Given the description of an element on the screen output the (x, y) to click on. 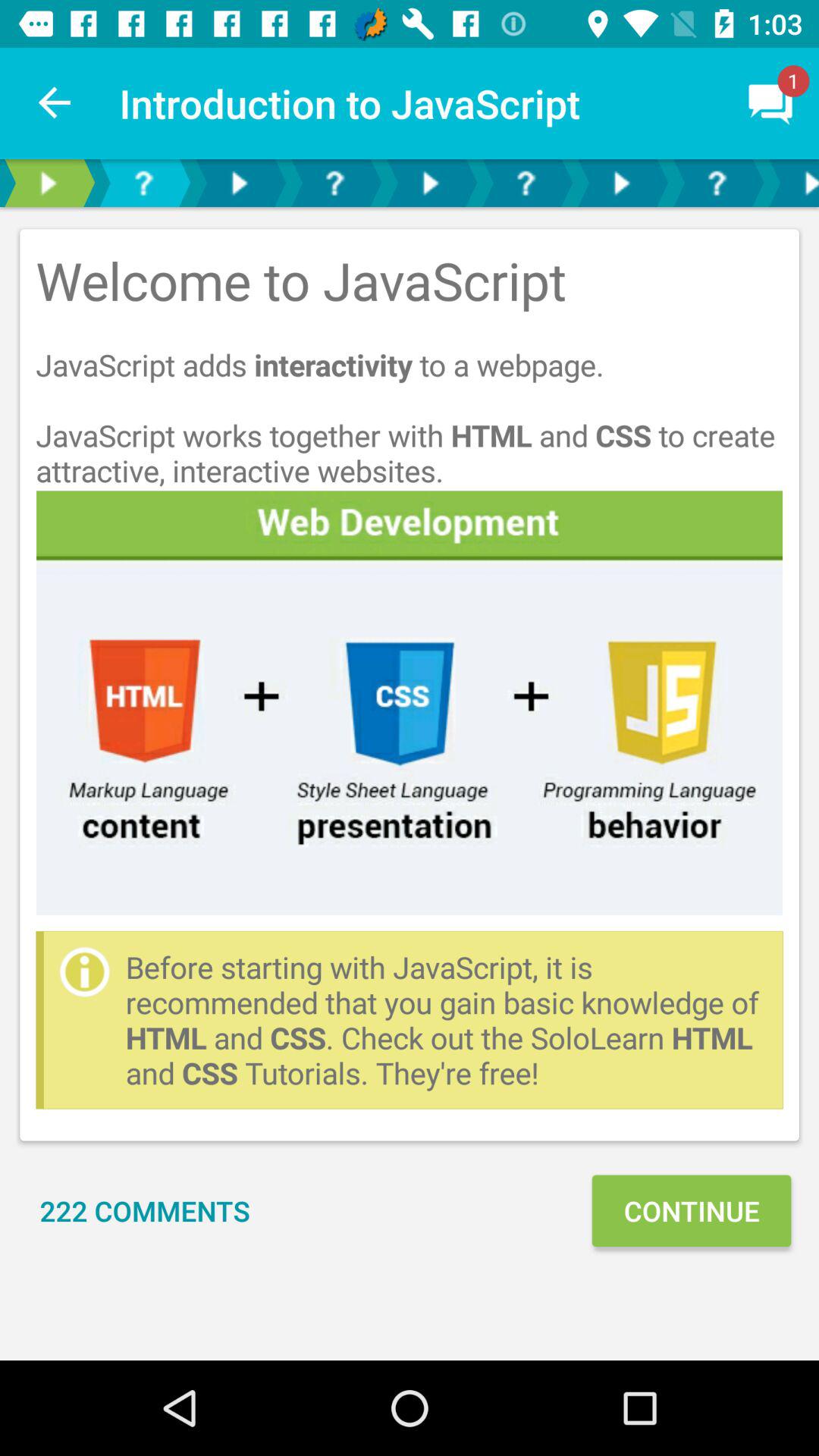
turn off the item below the welcome to javascript item (409, 702)
